Given the description of an element on the screen output the (x, y) to click on. 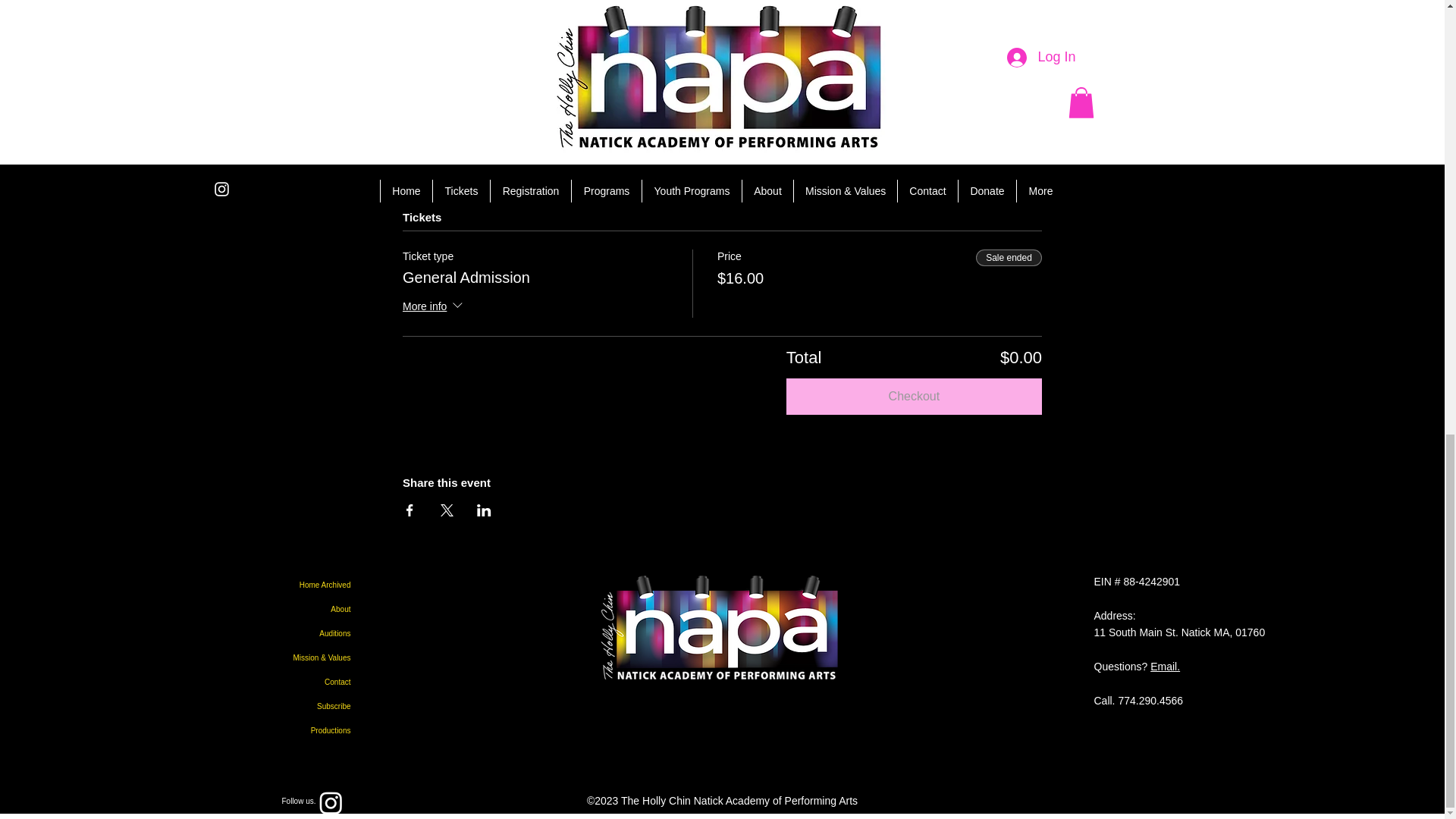
More info (434, 307)
Contact (261, 682)
Checkout (914, 396)
Email. (1164, 666)
Productions (261, 730)
Subscribe (261, 706)
Home Archived (261, 585)
Auditions (261, 633)
About (261, 609)
